Given the description of an element on the screen output the (x, y) to click on. 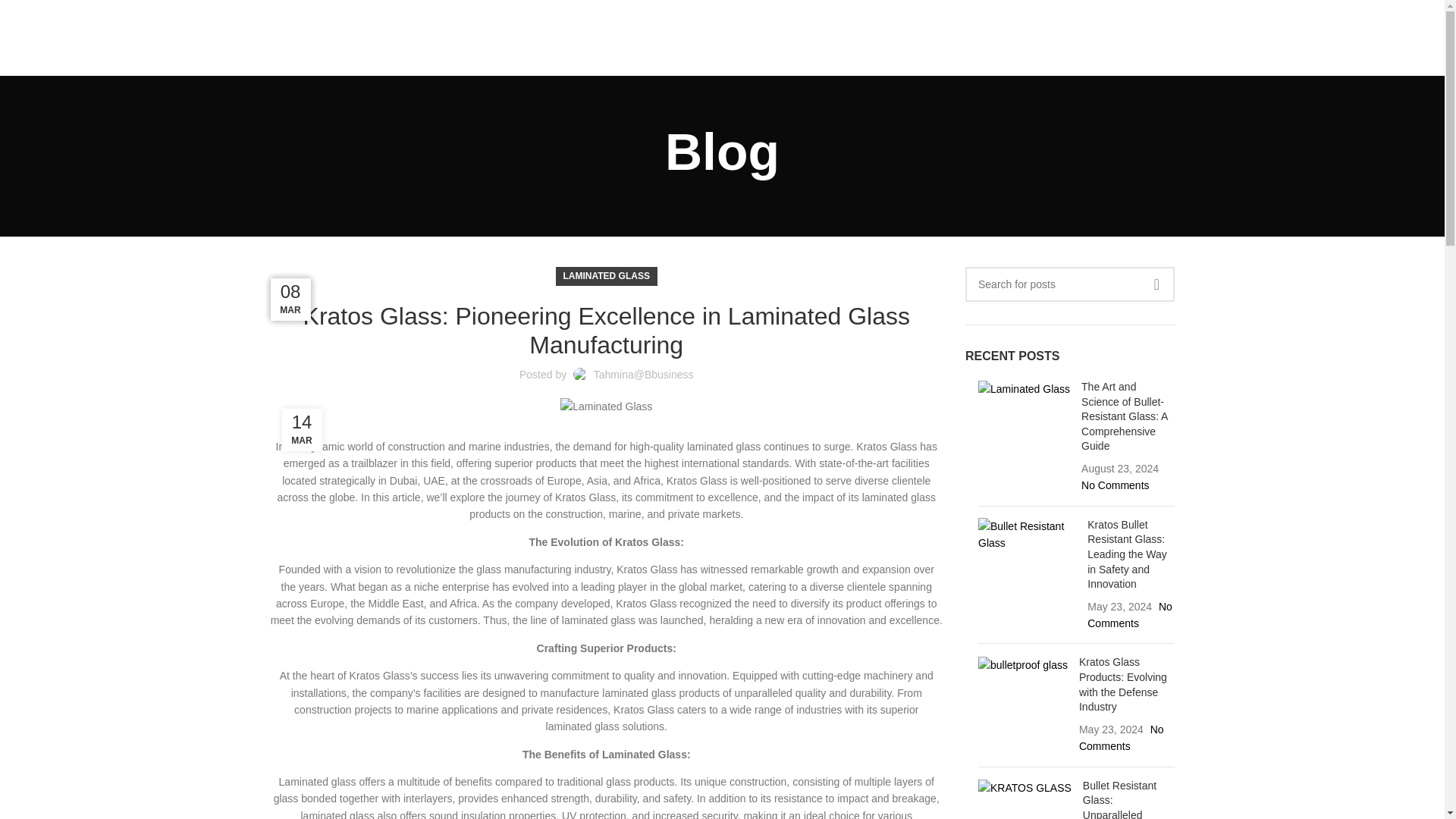
Laminated Glass (1024, 388)
SOLUTIONS (729, 37)
Search for posts (1069, 284)
LAMINATED GLASS (606, 275)
KRATOS GLASS (1024, 787)
Bullet Resistant Glass (1026, 534)
CONTACT US (872, 37)
PRODUCTS (643, 37)
